Given the description of an element on the screen output the (x, y) to click on. 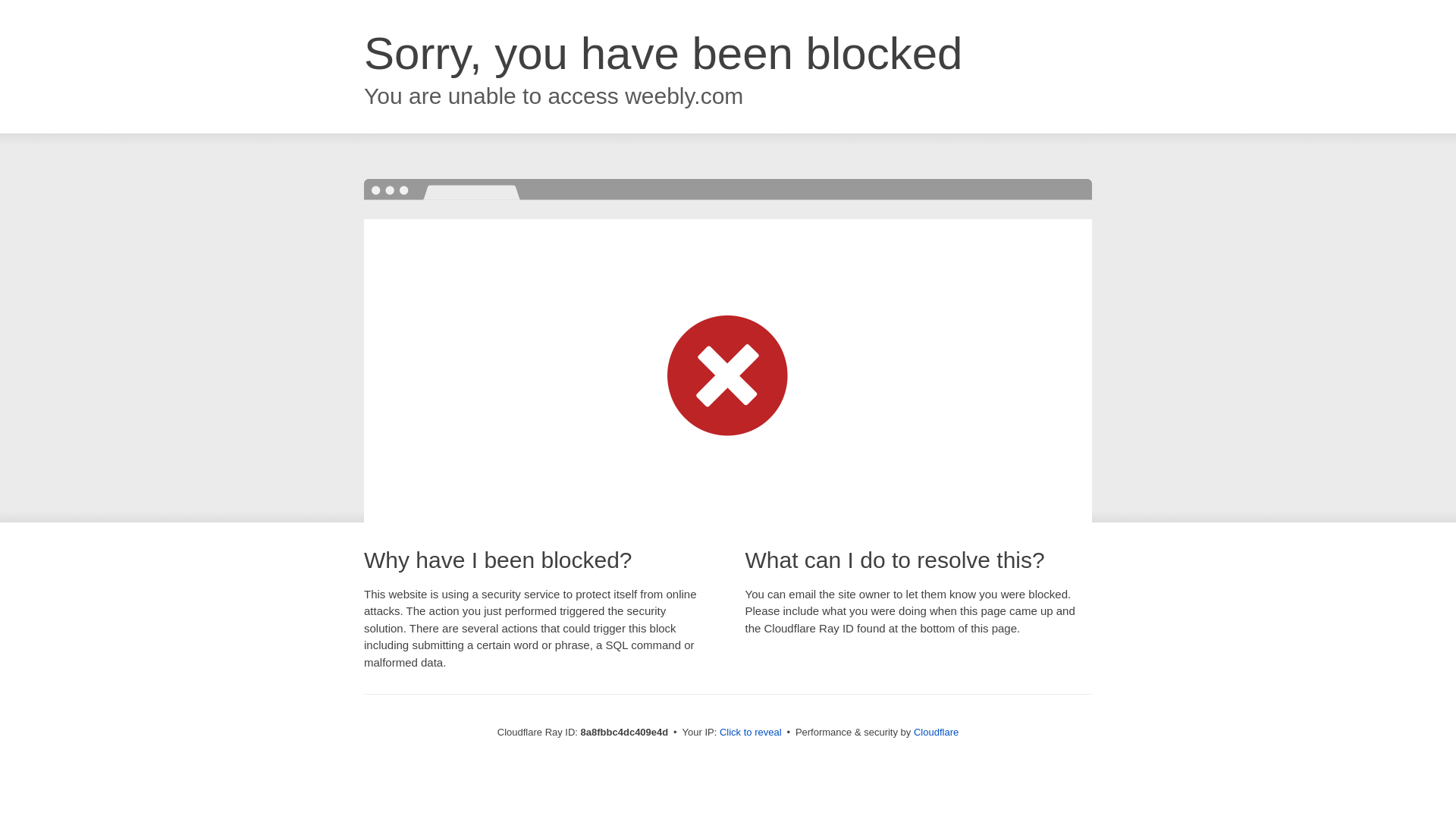
Click to reveal (750, 732)
Cloudflare (936, 731)
